Given the description of an element on the screen output the (x, y) to click on. 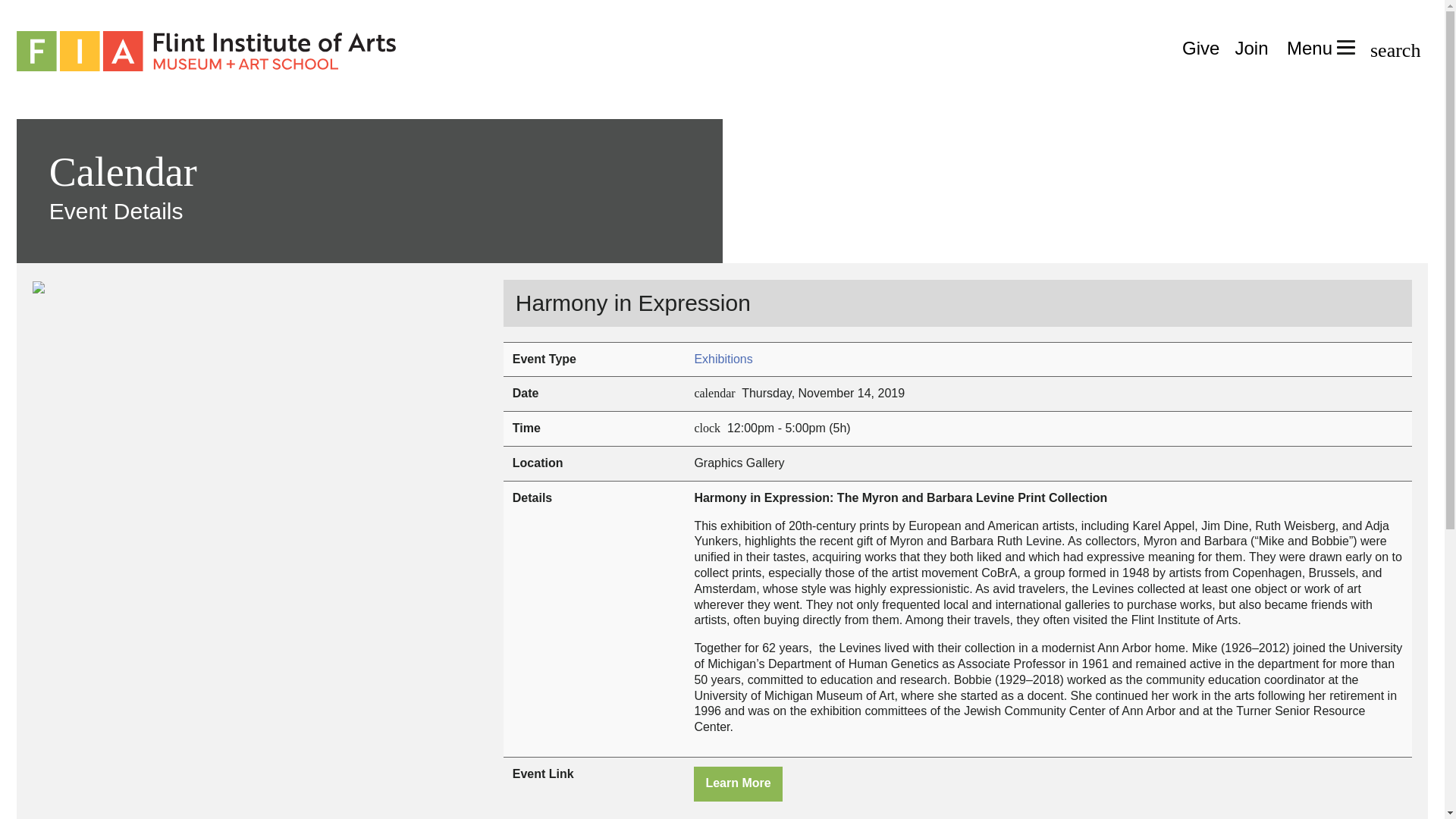
Give (1200, 48)
search (1395, 48)
Join (1251, 48)
Menu (1320, 48)
